Given the description of an element on the screen output the (x, y) to click on. 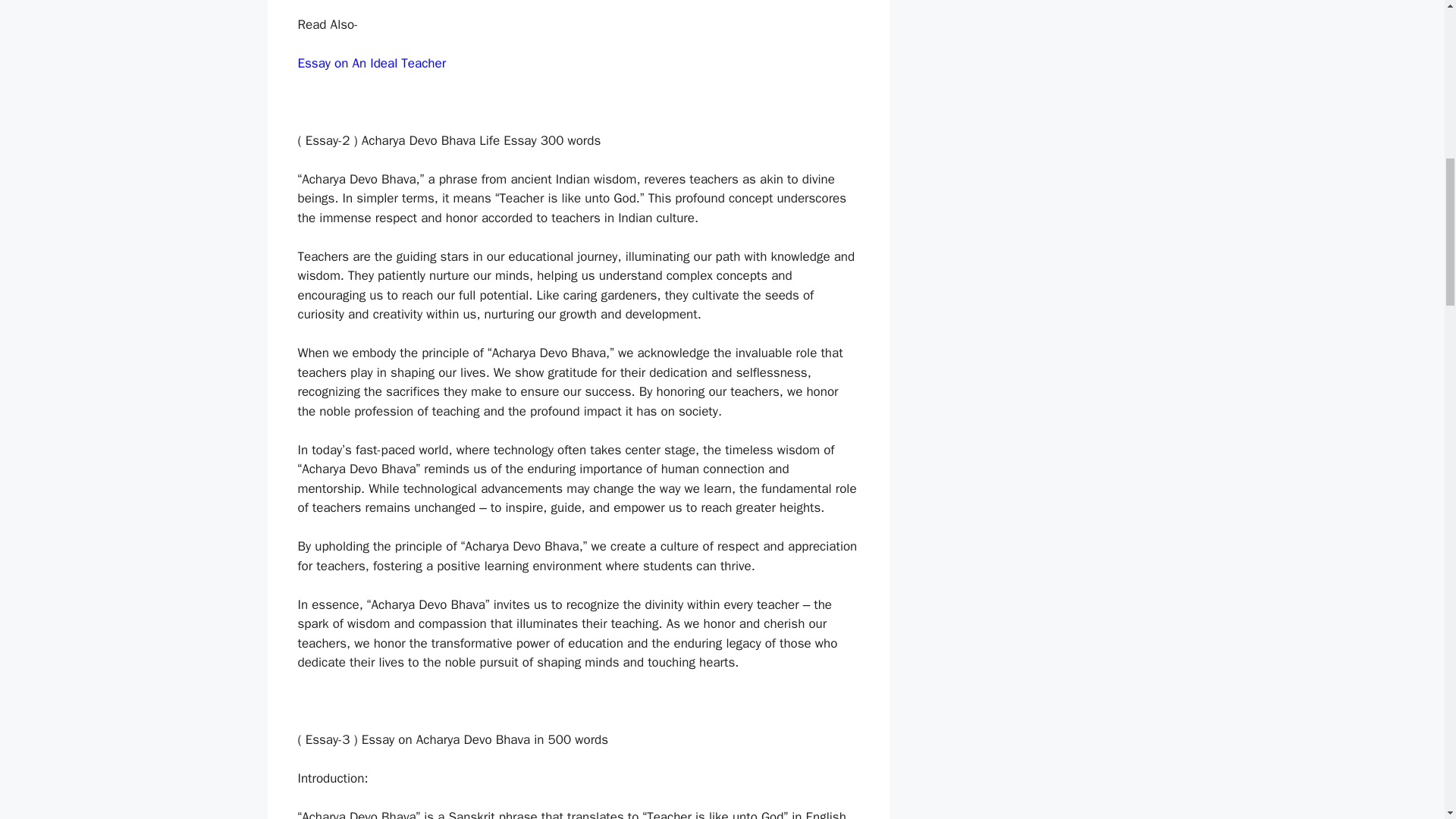
Essay on An Ideal Teacher (371, 63)
